Given the description of an element on the screen output the (x, y) to click on. 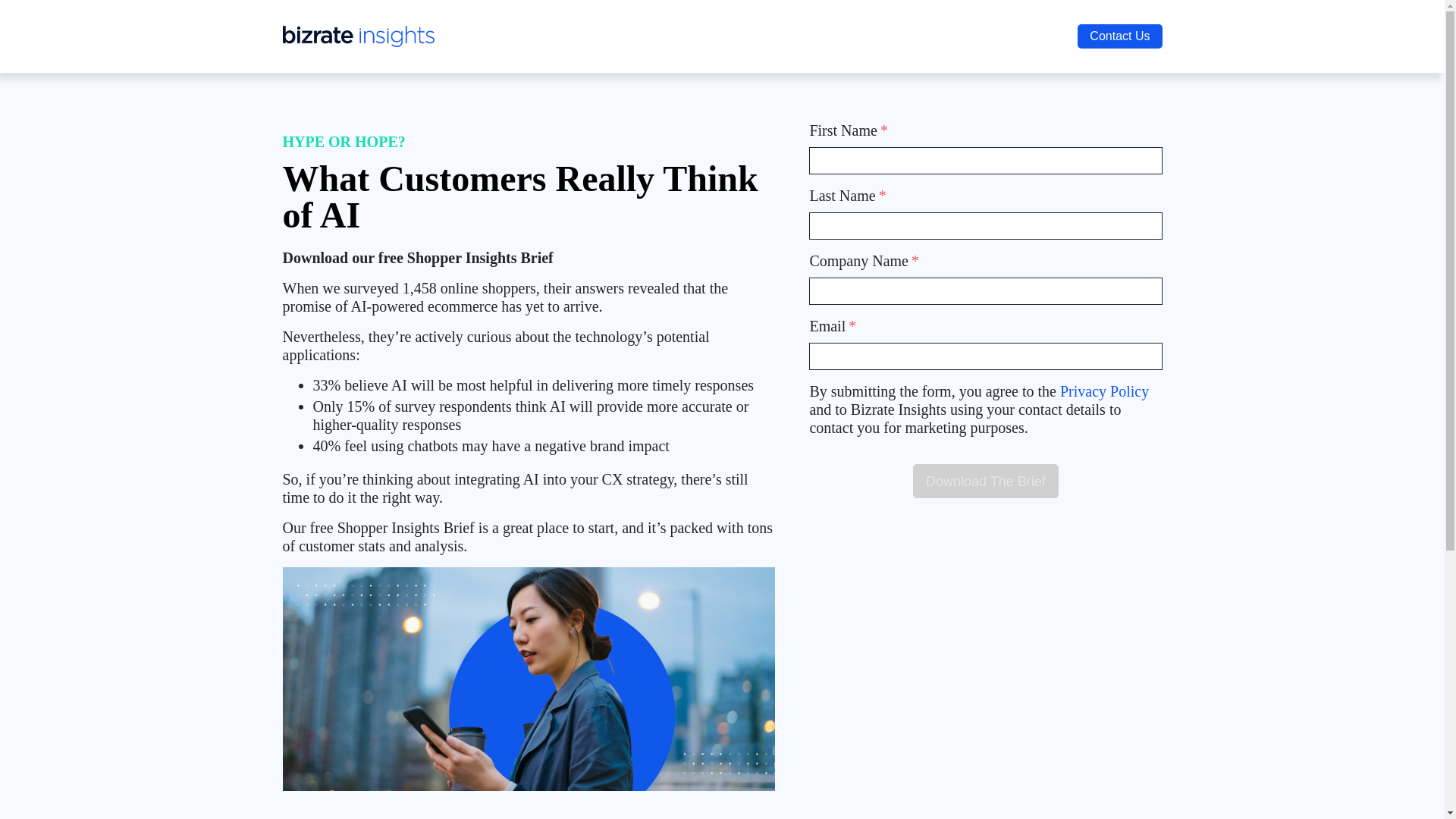
Contact Us (1119, 36)
Download the brief (985, 480)
Privacy Policy (1103, 391)
Bizrate Insights (357, 35)
Download the brief (985, 480)
